Given the description of an element on the screen output the (x, y) to click on. 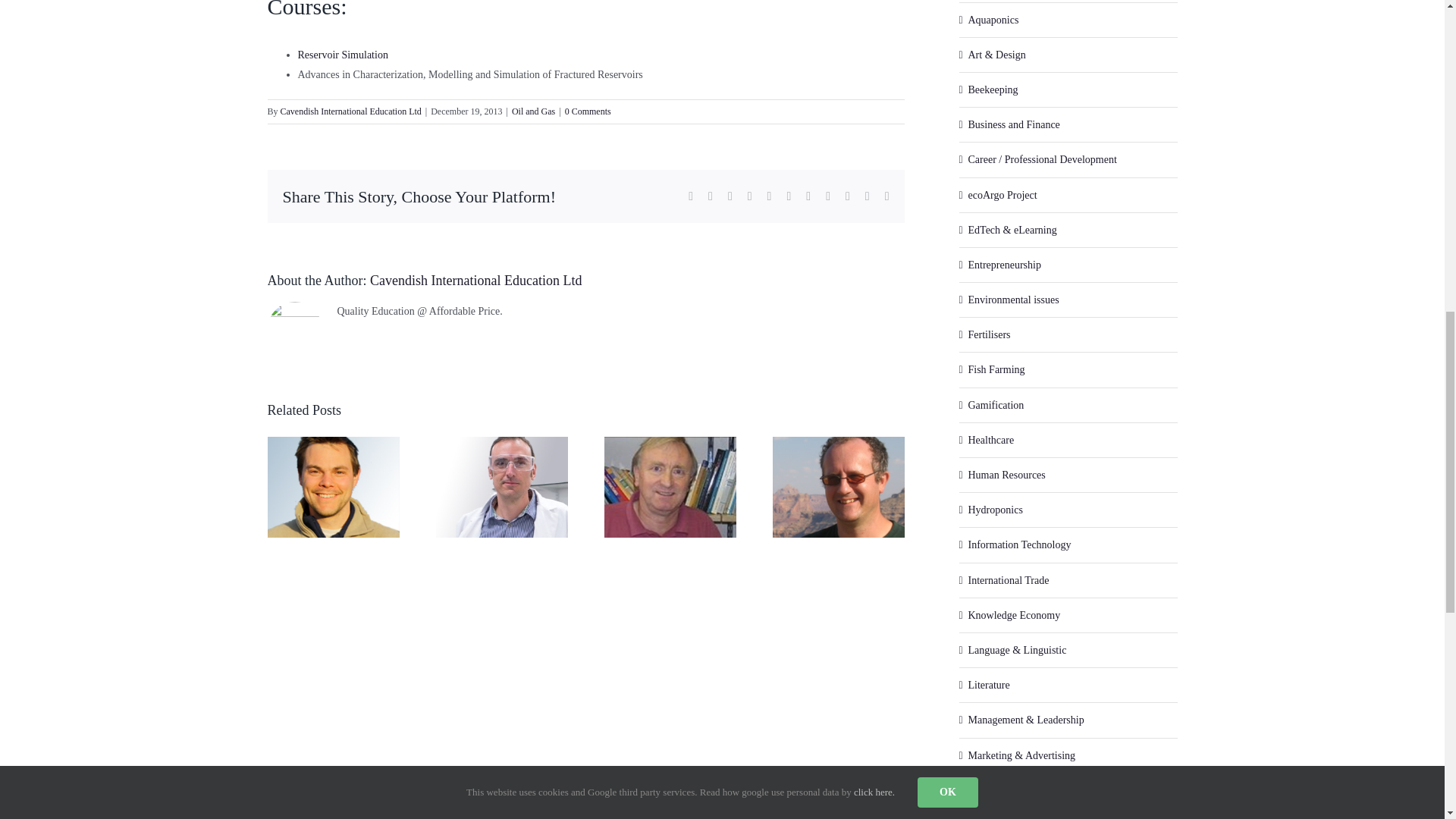
Reservoir Simulation (342, 54)
Posts by Cavendish International Education Ltd (351, 111)
